Given the description of an element on the screen output the (x, y) to click on. 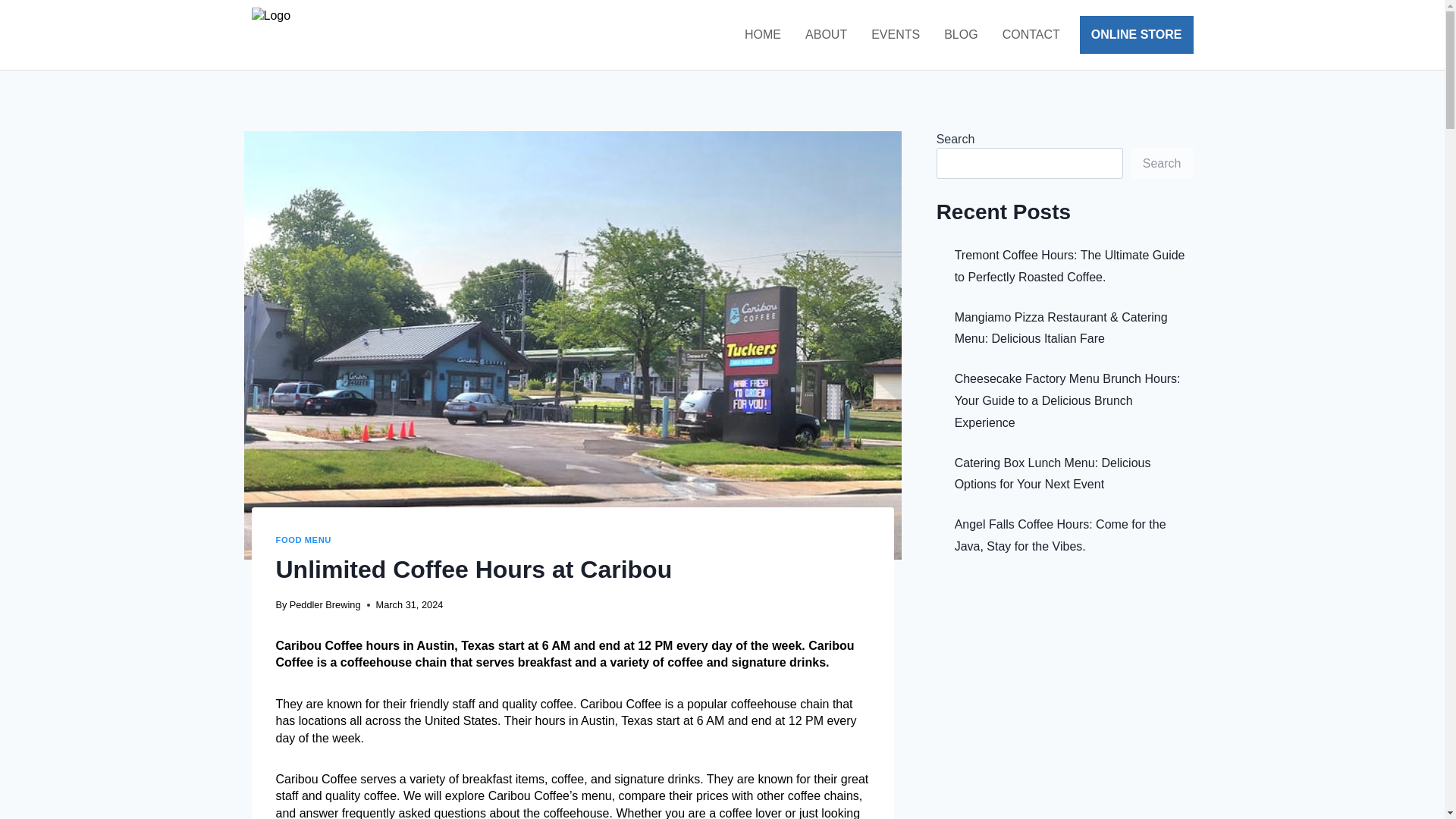
CONTACT (1030, 34)
BLOG (960, 34)
Peddler Brewing (325, 604)
ONLINE STORE (1136, 34)
EVENTS (895, 34)
HOME (762, 34)
FOOD MENU (303, 539)
ABOUT (826, 34)
